Given the description of an element on the screen output the (x, y) to click on. 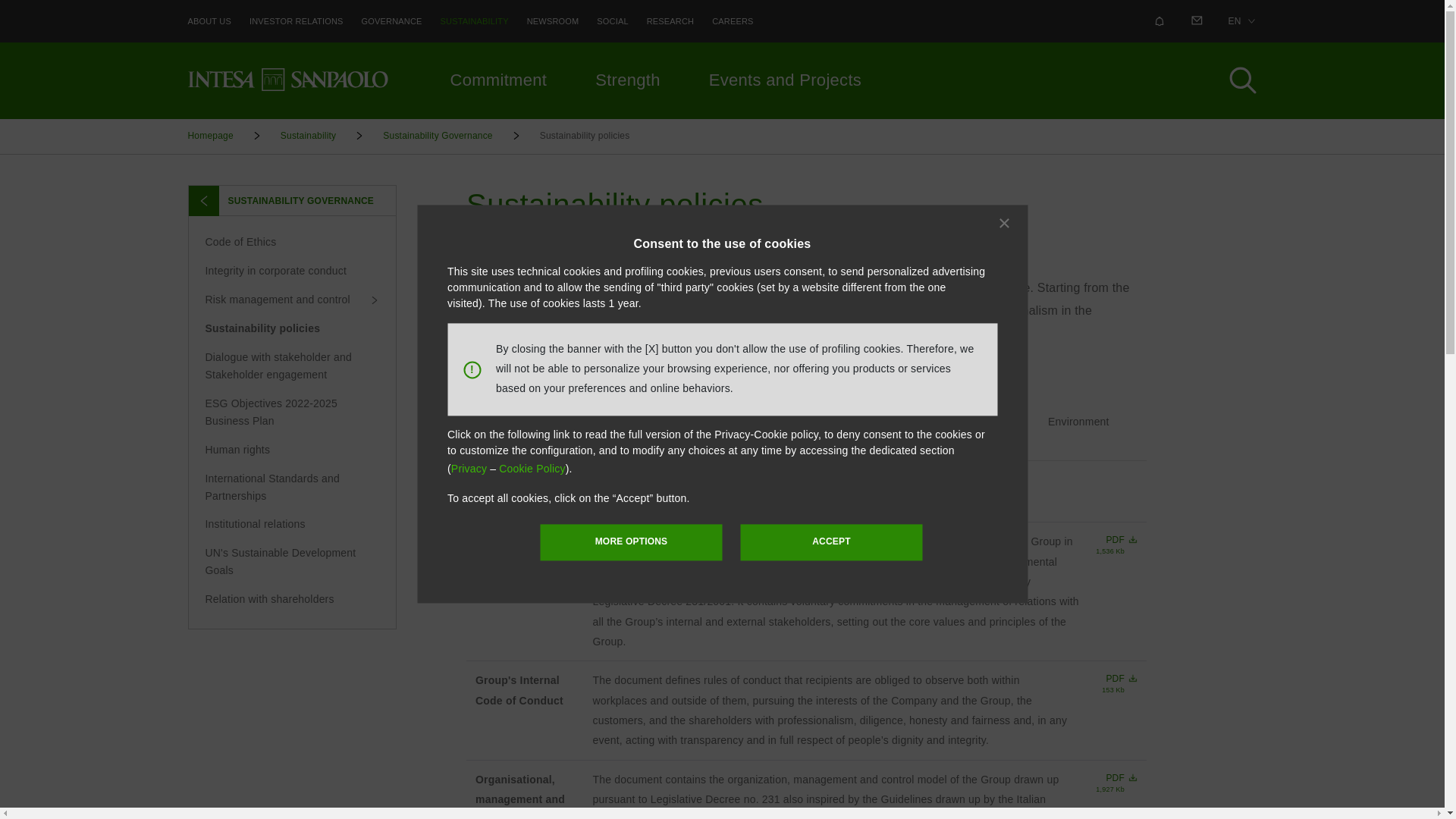
Cookie Policy (531, 469)
More options (631, 542)
I agree (831, 542)
INVESTOR RELATIONS (295, 21)
ABOUT US (209, 21)
ACCEPT (831, 542)
MORE OPTIONS (631, 542)
Privacy  (470, 469)
